Given the description of an element on the screen output the (x, y) to click on. 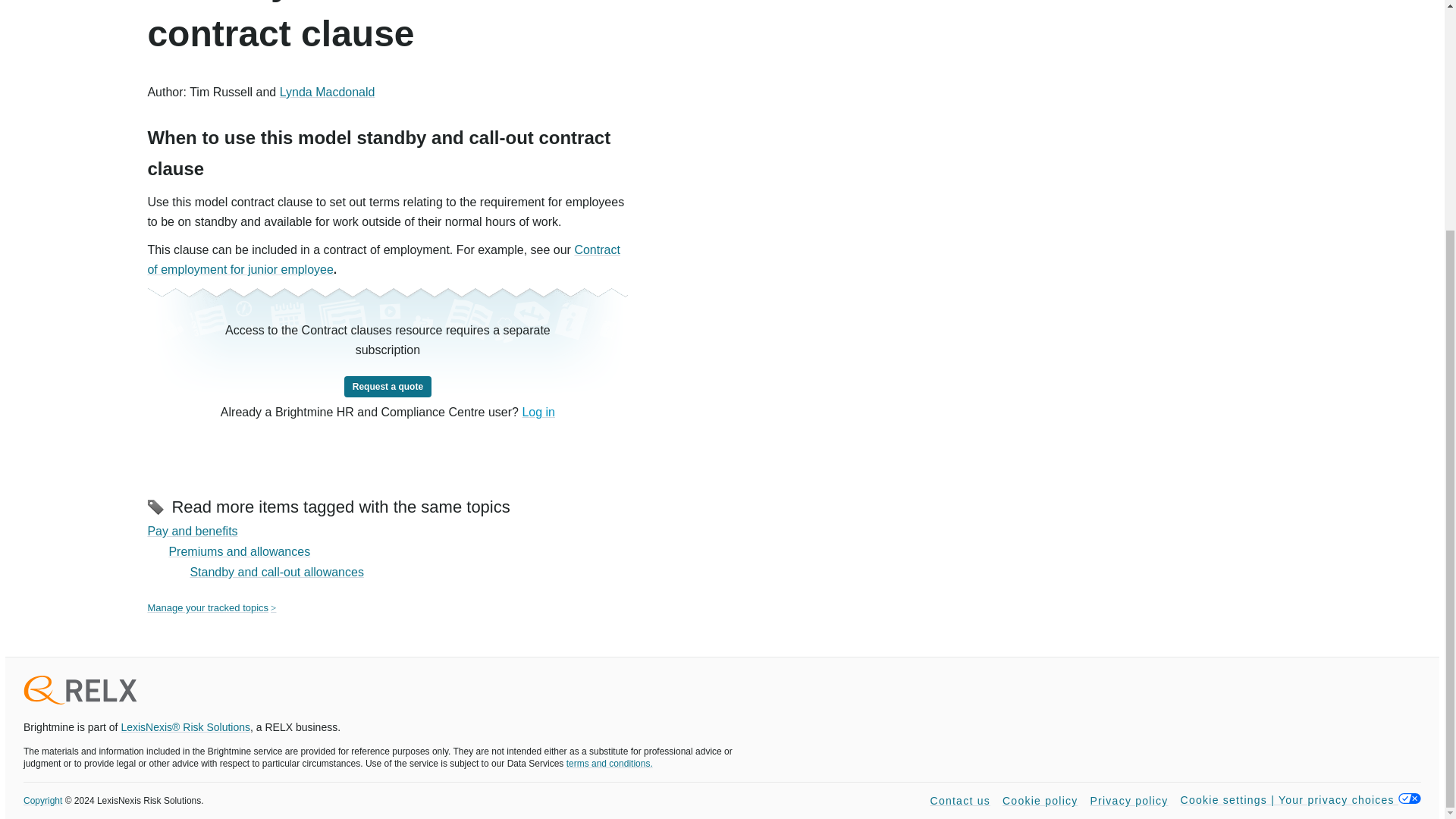
Request a quote (386, 386)
Contract of employment for junior employee (383, 259)
Log in (537, 411)
Lynda Macdonald (327, 91)
Contract of employment for junior employee (383, 259)
